Given the description of an element on the screen output the (x, y) to click on. 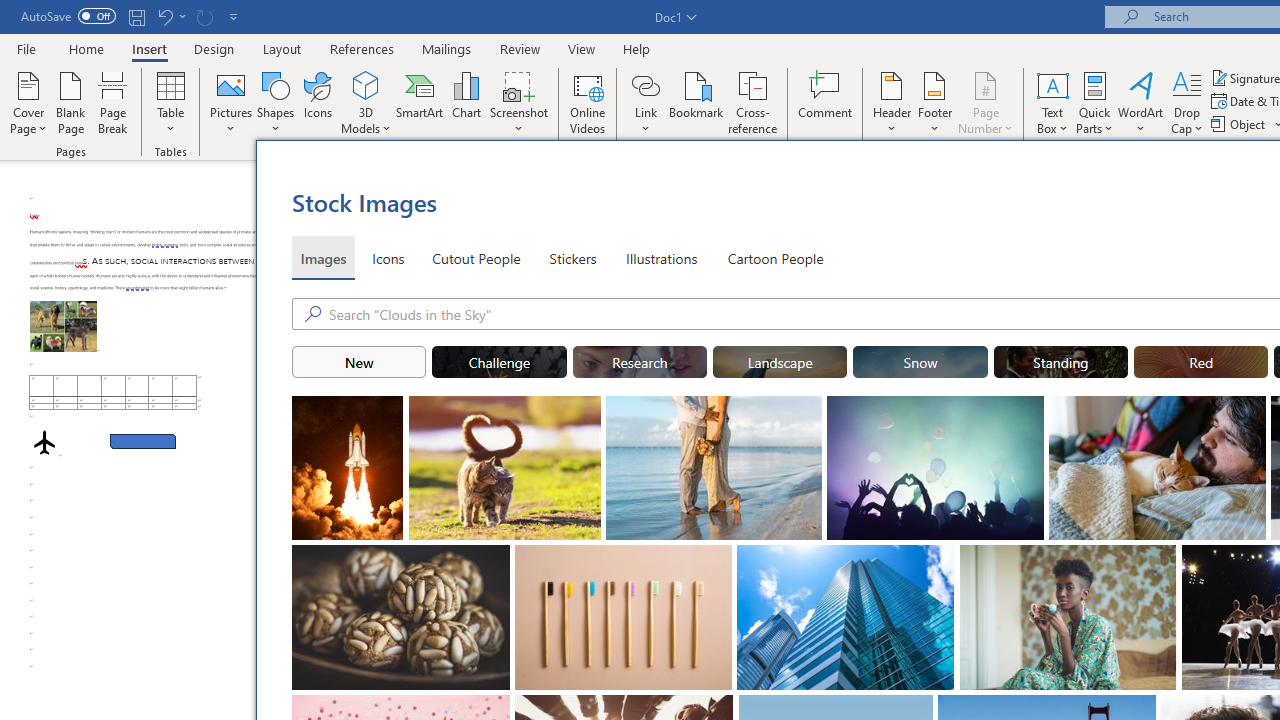
Save (136, 15)
Design (214, 48)
Screenshot (518, 102)
Airplane with solid fill (43, 442)
"Red" Stock Images. (1201, 362)
"New" Stock Images. (358, 362)
Text Box (1052, 102)
Mailings (447, 48)
Drop Cap (1187, 102)
Online Videos... (588, 102)
3D Models (366, 84)
Icons (388, 258)
File Tab (26, 48)
